Given the description of an element on the screen output the (x, y) to click on. 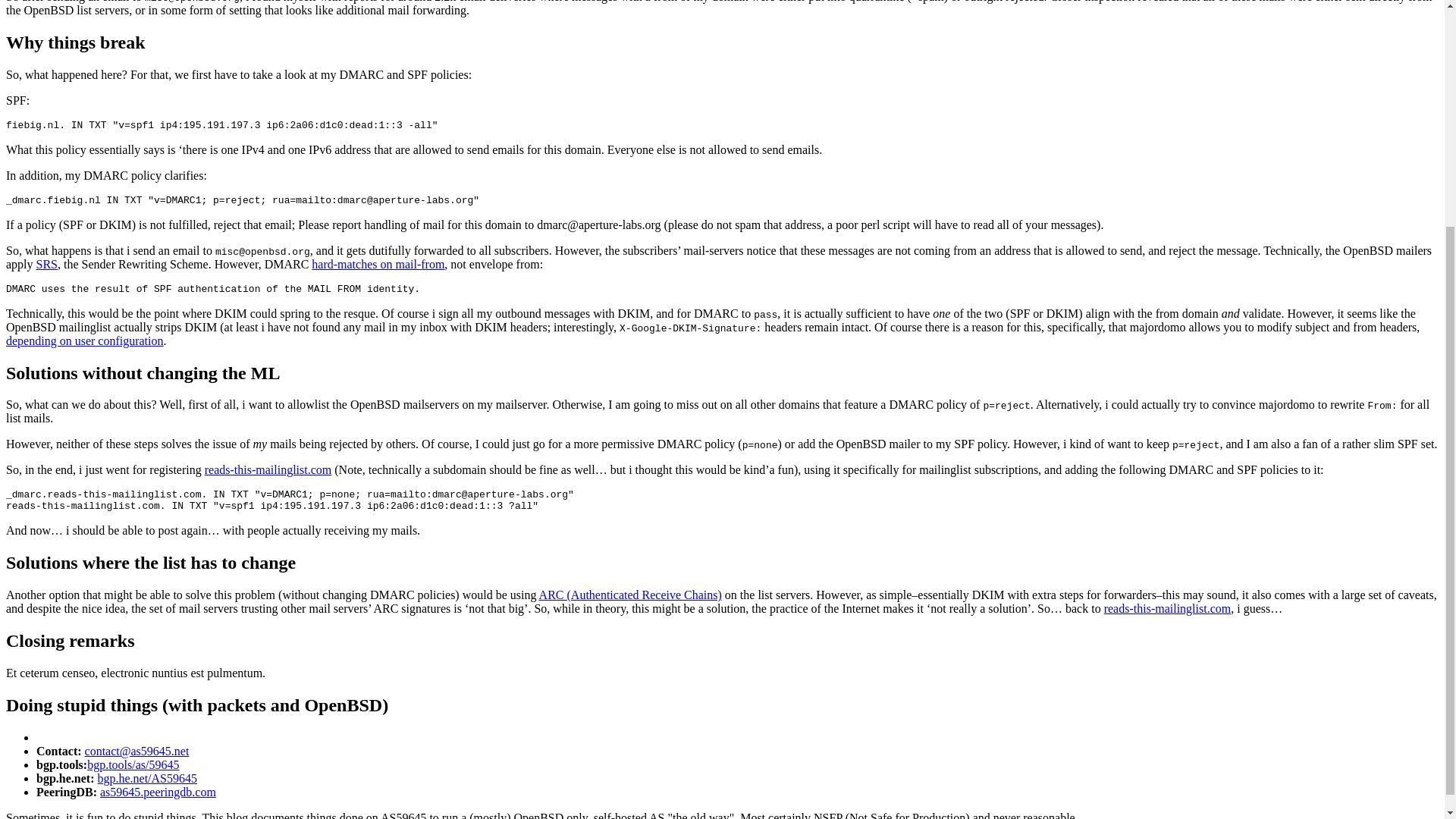
reads-this-mailinglist.com (1167, 608)
hard-matches on mail-from (377, 264)
as59645.peeringdb.com (157, 791)
depending on user configuration (84, 340)
SRS (47, 264)
reads-this-mailinglist.com (268, 469)
